Given the description of an element on the screen output the (x, y) to click on. 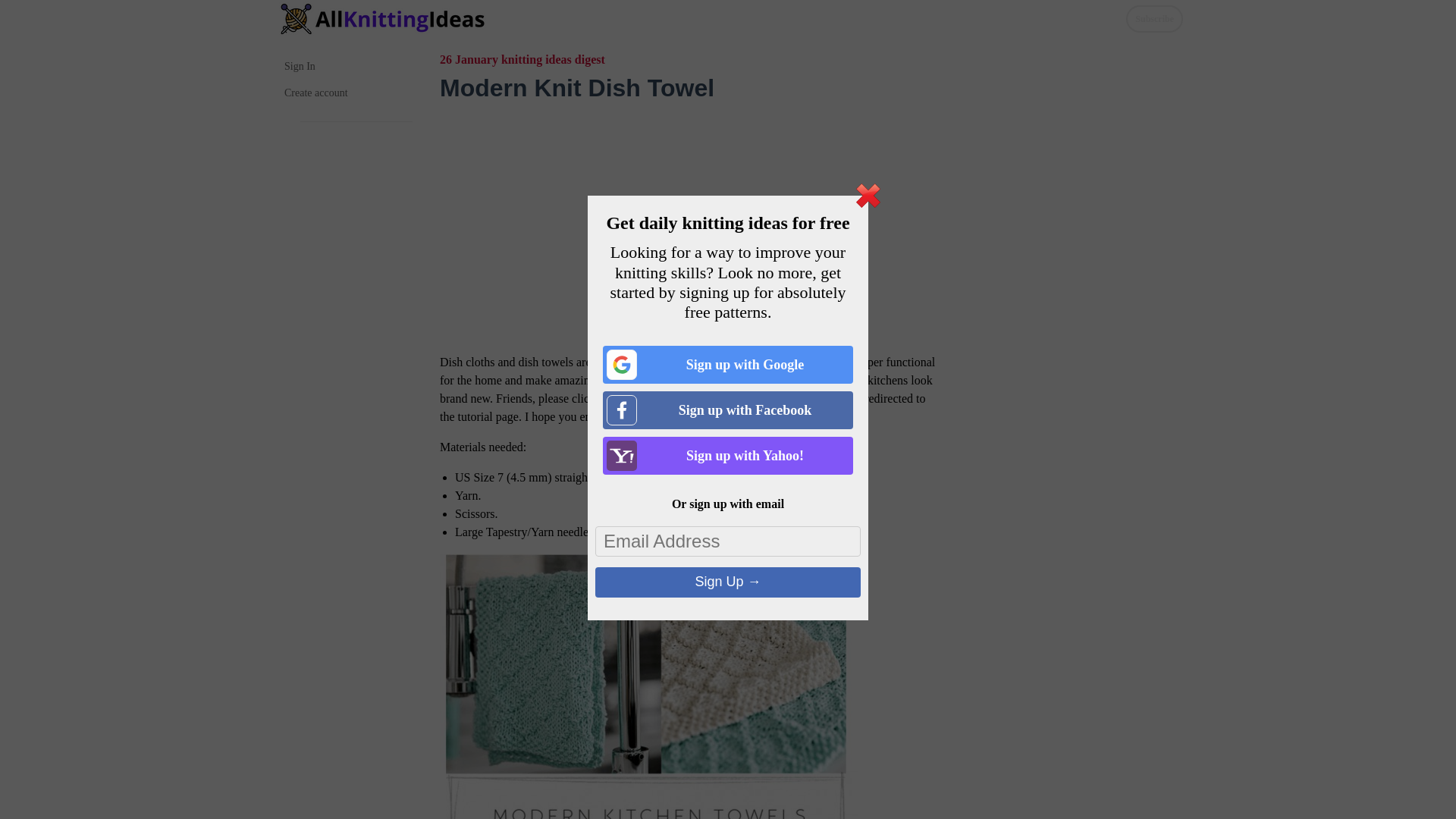
Sign up with Google (727, 364)
Sign up with Yahoo! (727, 455)
Create account (348, 92)
Subscribe (1153, 18)
Advertisement (689, 219)
26 January knitting ideas digest (522, 59)
Create account (348, 92)
Sign In (348, 66)
Subscribe (1153, 18)
Sign up with Facebook (727, 410)
Advertisement (1068, 272)
Sign In (348, 66)
